Given the description of an element on the screen output the (x, y) to click on. 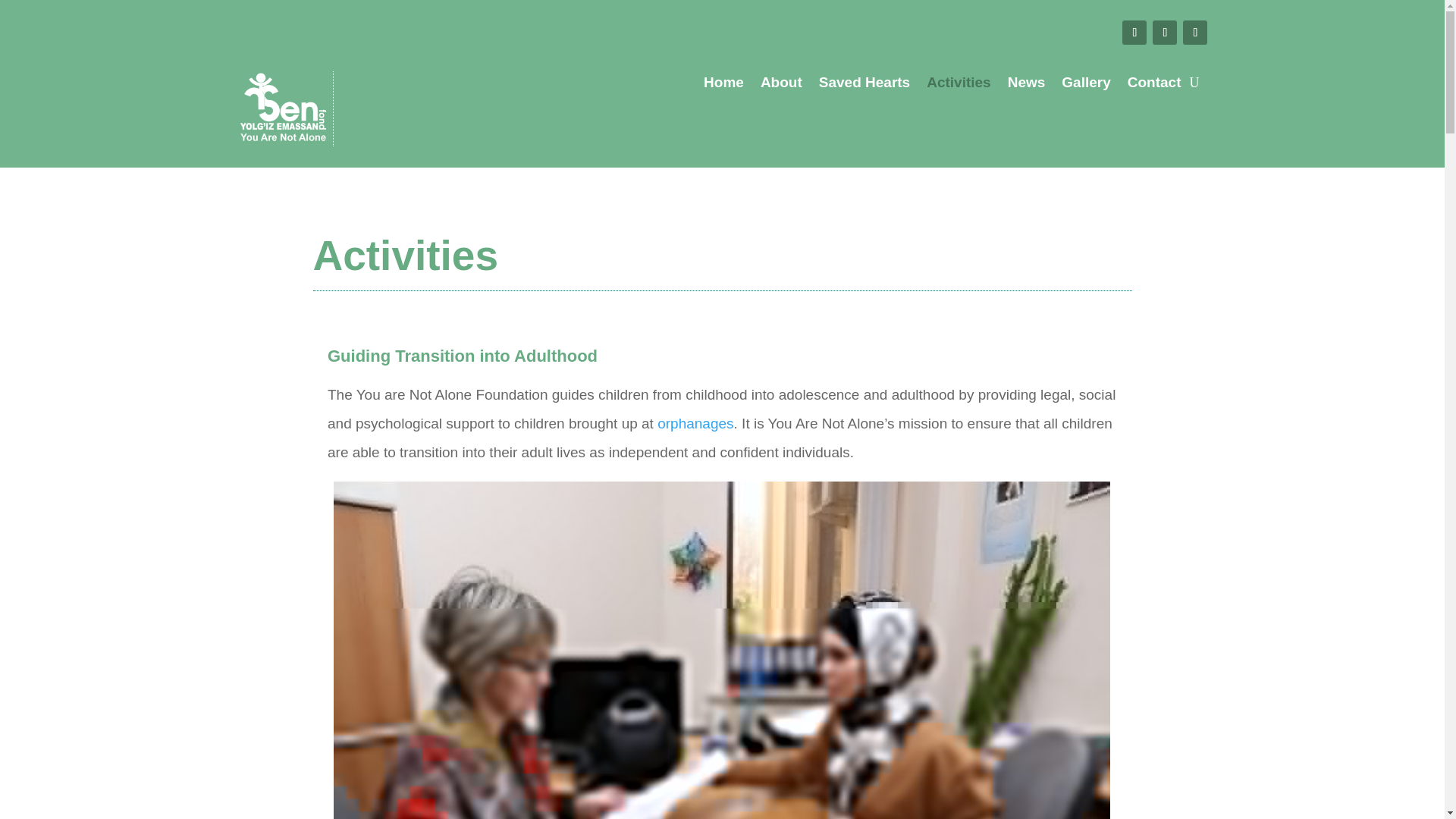
Follow on Facebook (1134, 32)
Activities (958, 85)
Contact (1153, 85)
orphanages (695, 423)
News (1026, 85)
Guiding Transition into Adulthood (461, 355)
Saved Hearts (864, 85)
About (781, 85)
Follow on Youtube (1164, 32)
Follow on Instagram (1194, 32)
Gallery (1085, 85)
Home (723, 85)
sen-uzArtboard 1 (282, 108)
